Given the description of an element on the screen output the (x, y) to click on. 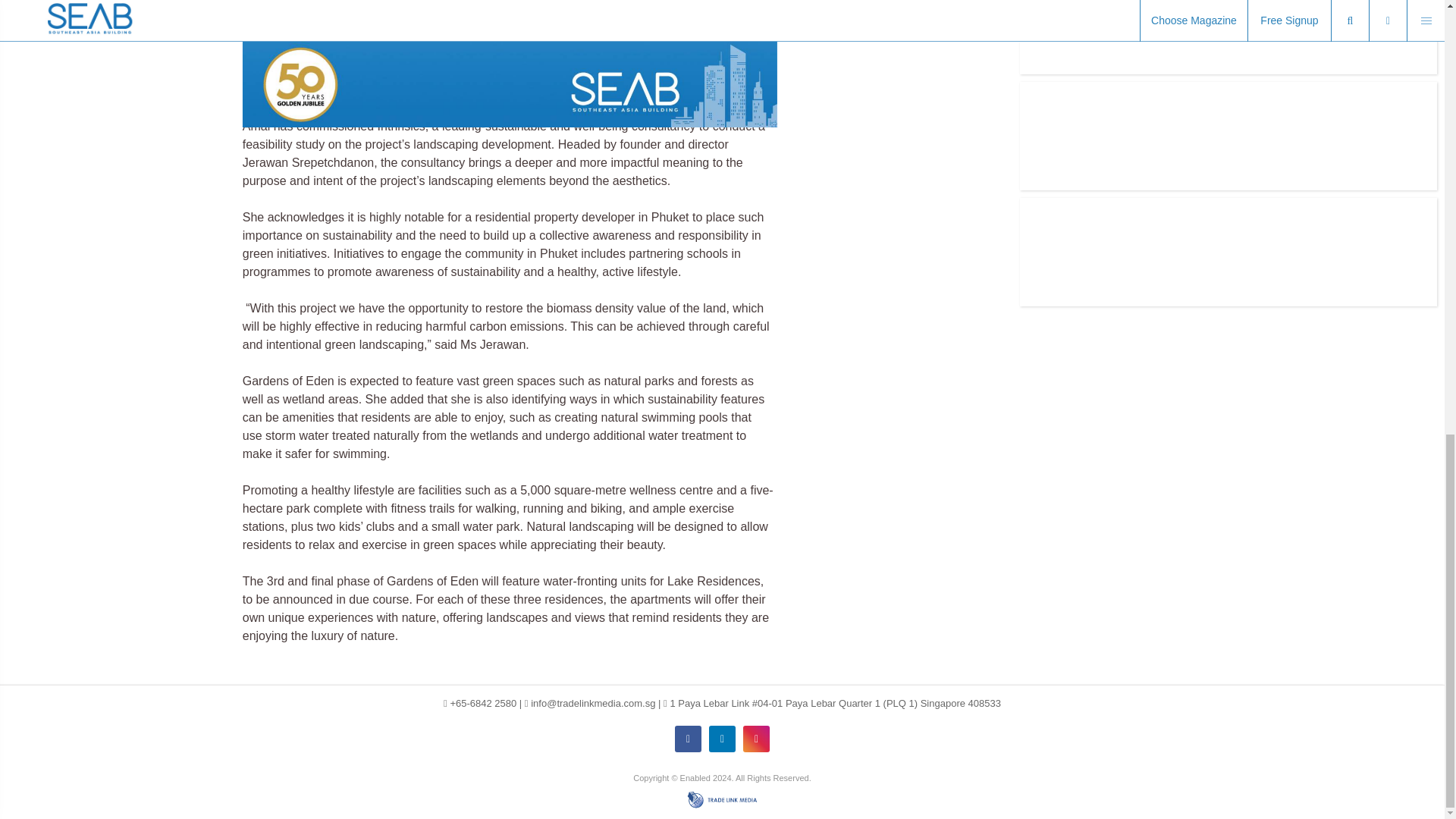
Amal Group (275, 21)
